Given the description of an element on the screen output the (x, y) to click on. 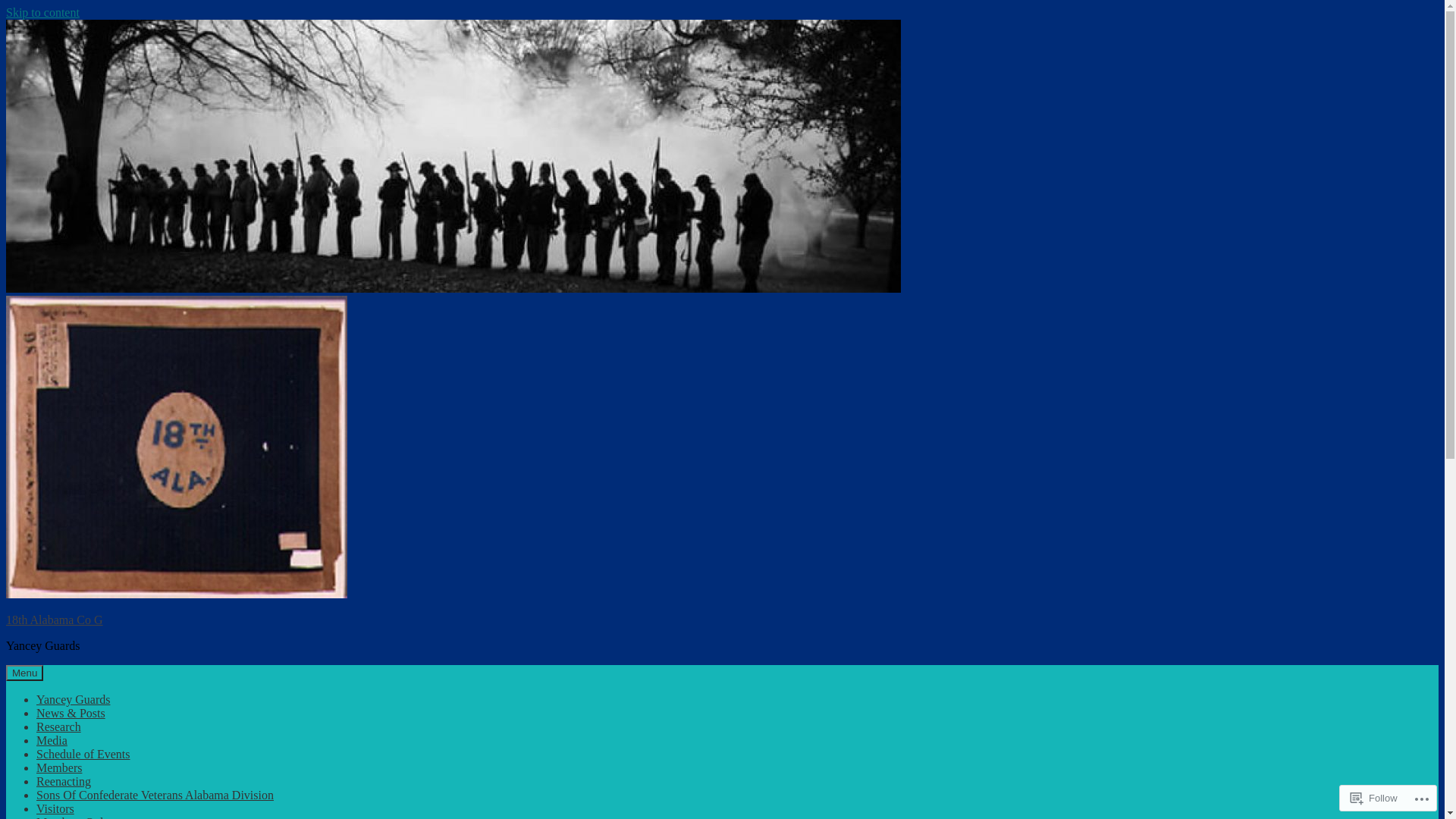
Reenacting Element type: text (63, 781)
Research Element type: text (58, 726)
Yancey Guards Element type: text (72, 699)
Menu Element type: text (24, 672)
Follow Element type: text (1373, 797)
News & Posts Element type: text (70, 712)
Skip to content Element type: text (42, 12)
Media Element type: text (51, 740)
Visitors Element type: text (55, 808)
Schedule of Events Element type: text (83, 753)
18th Alabama Co G Element type: text (54, 619)
Sons Of Confederate Veterans Alabama Division Element type: text (154, 794)
Members Element type: text (58, 767)
